Given the description of an element on the screen output the (x, y) to click on. 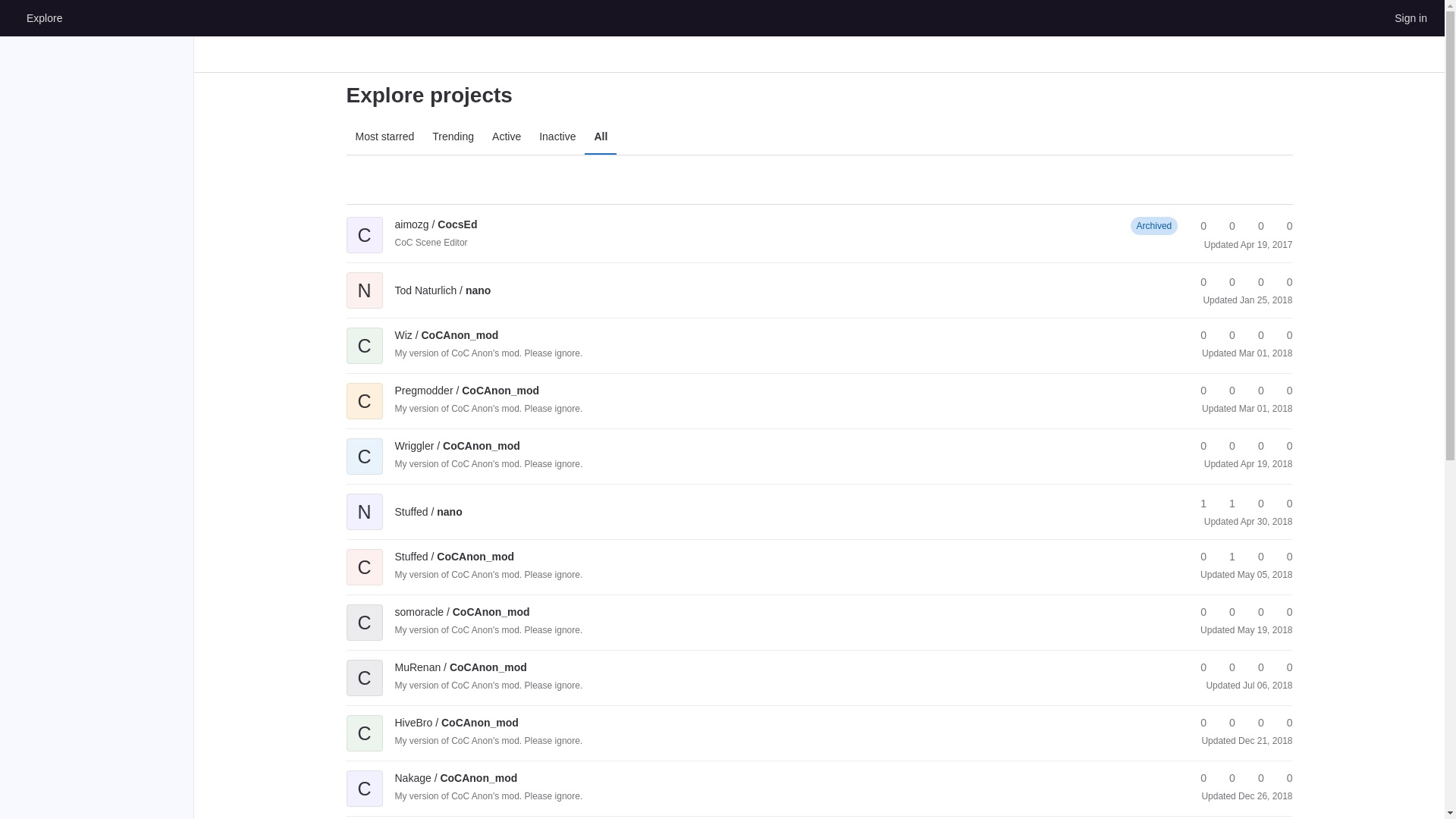
0 (1253, 282)
0 (1253, 226)
C (363, 390)
Forks (1224, 226)
0 (1196, 226)
Issues (1282, 226)
N (363, 279)
Sign in (1410, 17)
Merge requests (1253, 226)
0 (1282, 335)
Trending (453, 135)
Active (506, 135)
Merge requests (1253, 282)
CocsEd (435, 224)
Forks (1224, 282)
